Given the description of an element on the screen output the (x, y) to click on. 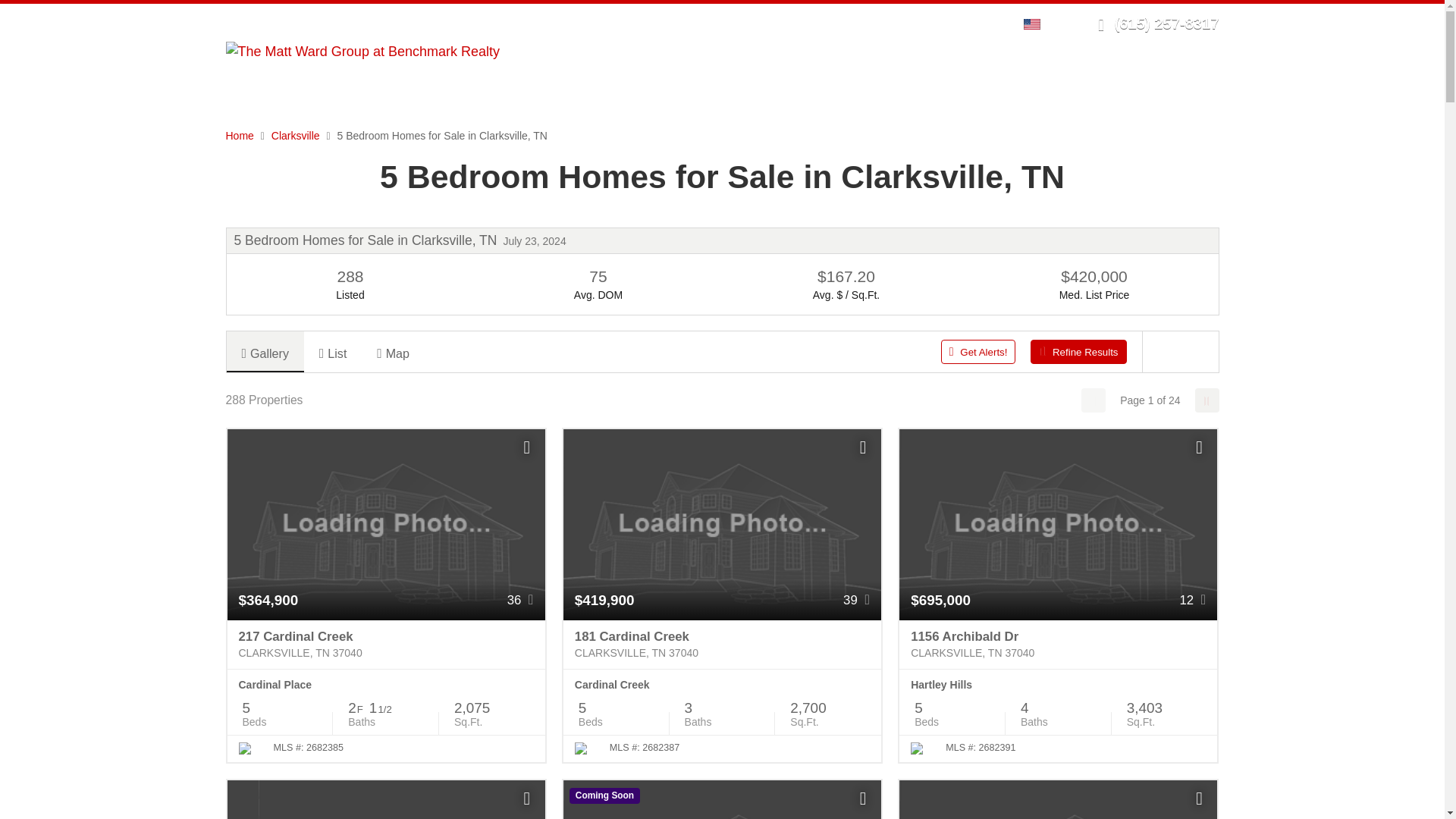
Home (239, 135)
Login (900, 23)
Gallery (263, 351)
Clarksville (295, 135)
217 Cardinal Creek Clarksville,  TN 37040 (385, 644)
Select Language (1035, 23)
1156 Archibald Dr Clarksville,  TN 37040 (1058, 644)
Home Page (362, 50)
Register (948, 23)
181 Cardinal Creek Clarksville,  TN 37040 (721, 644)
